Given the description of an element on the screen output the (x, y) to click on. 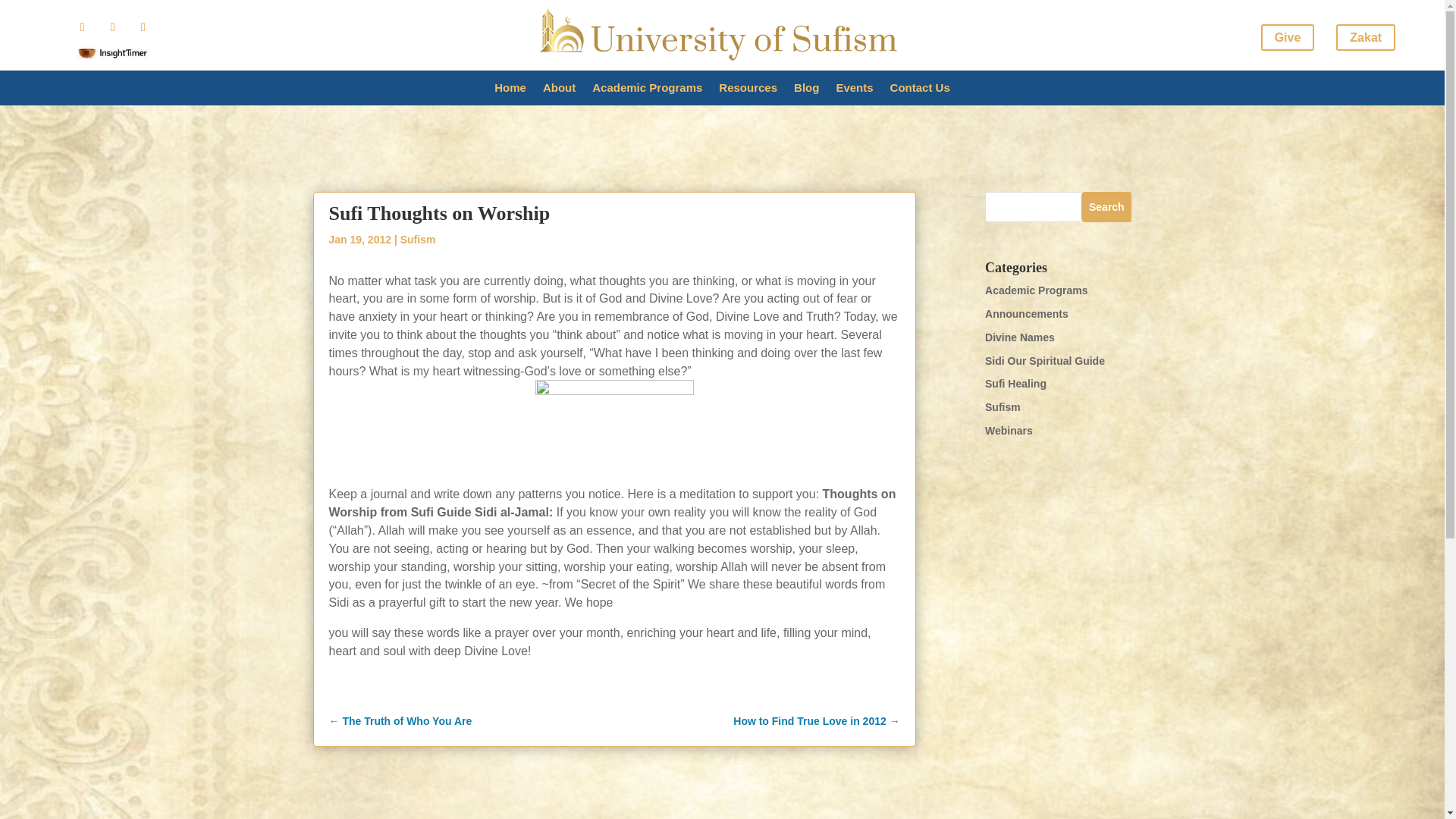
Contact Us (919, 90)
university-of-sufism-500 (721, 35)
Home (510, 90)
Follow on Facebook (81, 27)
About (559, 90)
insight-timer-sm (113, 53)
Follow on Vimeo (143, 27)
Follow on Instagram (112, 27)
Give (1287, 37)
Zakat (1365, 37)
Blog (805, 90)
Resources (748, 90)
Academic Programs (646, 90)
Search (1106, 206)
Events (853, 90)
